Given the description of an element on the screen output the (x, y) to click on. 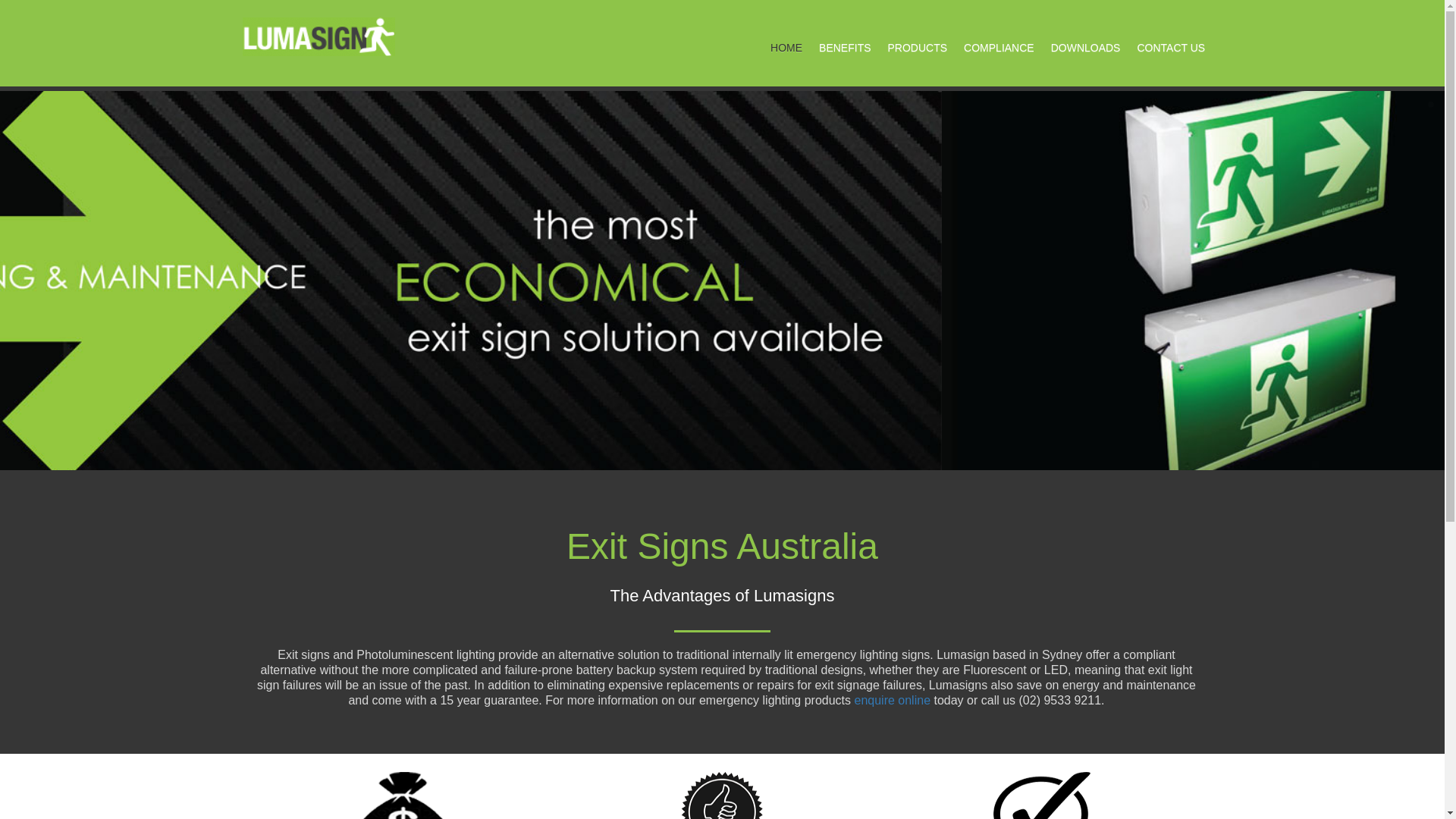
CONTACT US Element type: text (1170, 47)
enquire online Element type: text (891, 699)
COMPLIANCE Element type: text (998, 47)
HOME Element type: text (786, 47)
DOWNLOADS Element type: text (1085, 47)
BENEFITS Element type: text (844, 47)
PRODUCTS Element type: text (917, 47)
